Given the description of an element on the screen output the (x, y) to click on. 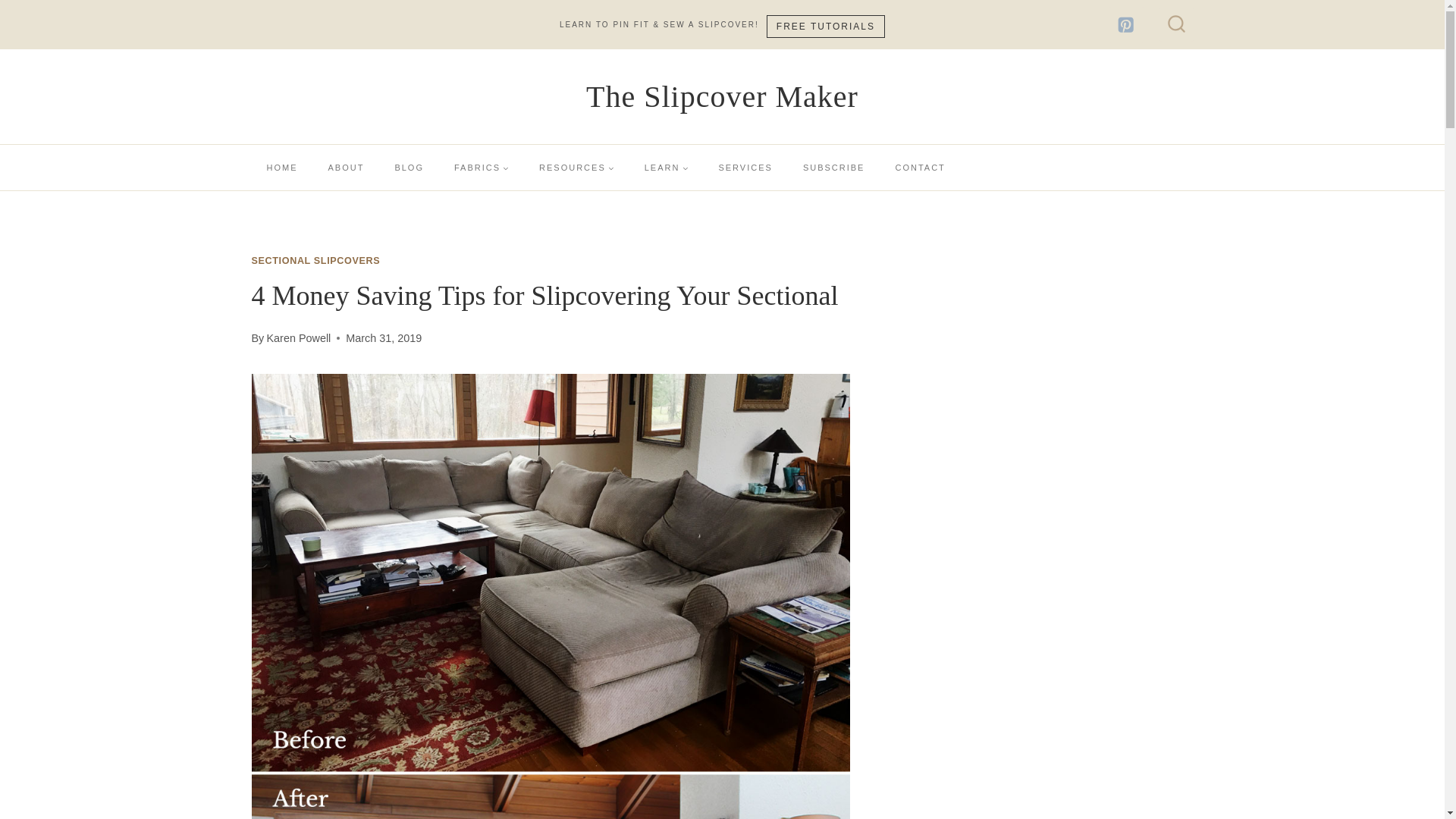
The Slipcover Maker (722, 96)
CONTACT (919, 166)
Karen Powell (298, 337)
FABRICS (481, 166)
SERVICES (745, 166)
LEARN (665, 166)
RESOURCES (576, 166)
HOME (282, 166)
FREE TUTORIALS (826, 26)
ABOUT (345, 166)
